Given the description of an element on the screen output the (x, y) to click on. 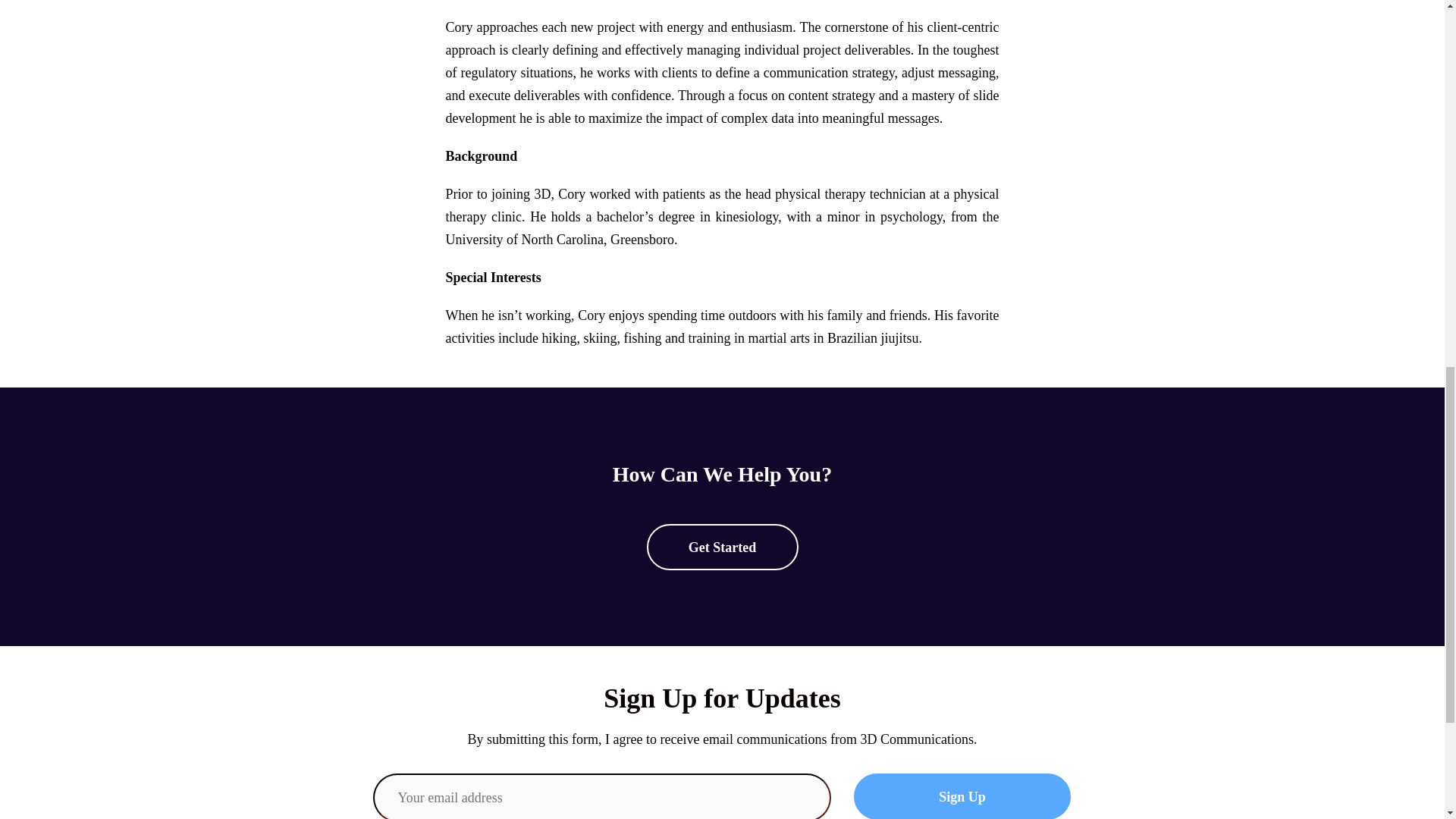
Sign Up (962, 796)
Sign Up (962, 796)
Get Started (721, 547)
